Given the description of an element on the screen output the (x, y) to click on. 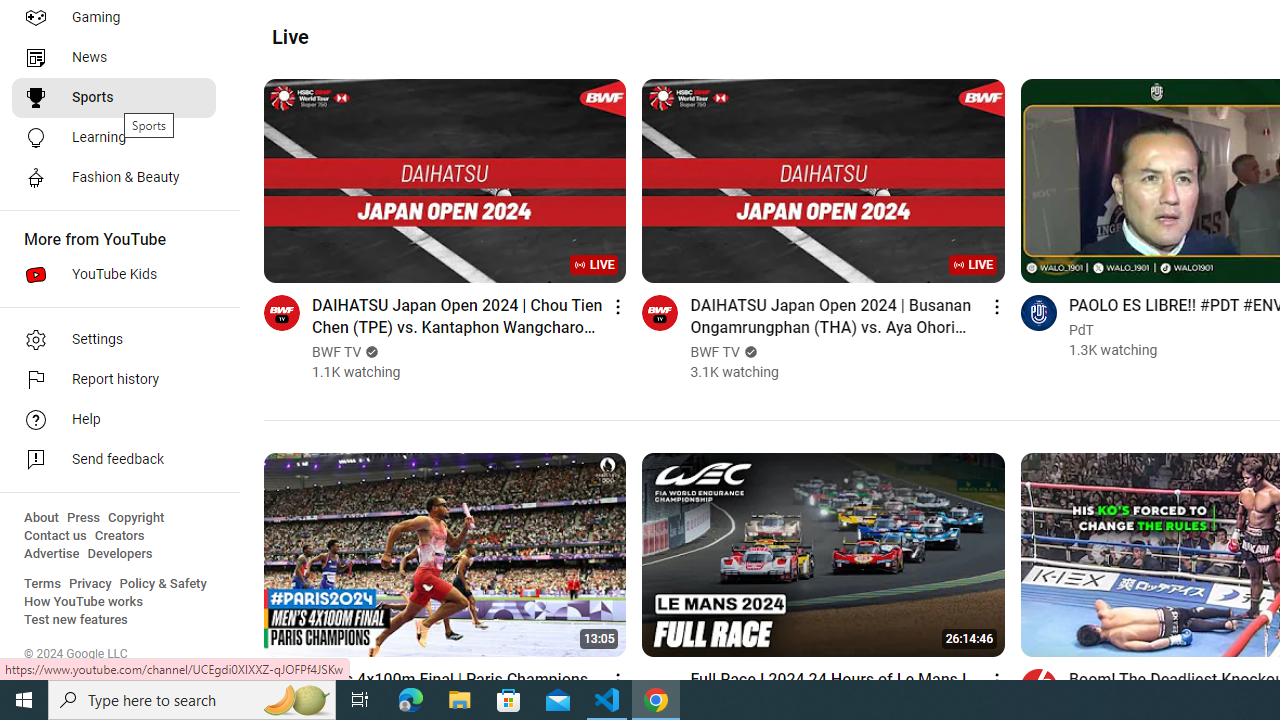
Creators (118, 536)
Go to channel (1038, 686)
News (113, 57)
Verified (747, 352)
How YouTube works (83, 602)
PdT (1081, 330)
Contact us (55, 536)
Press (83, 518)
Live (289, 37)
Fashion & Beauty (113, 177)
